Given the description of an element on the screen output the (x, y) to click on. 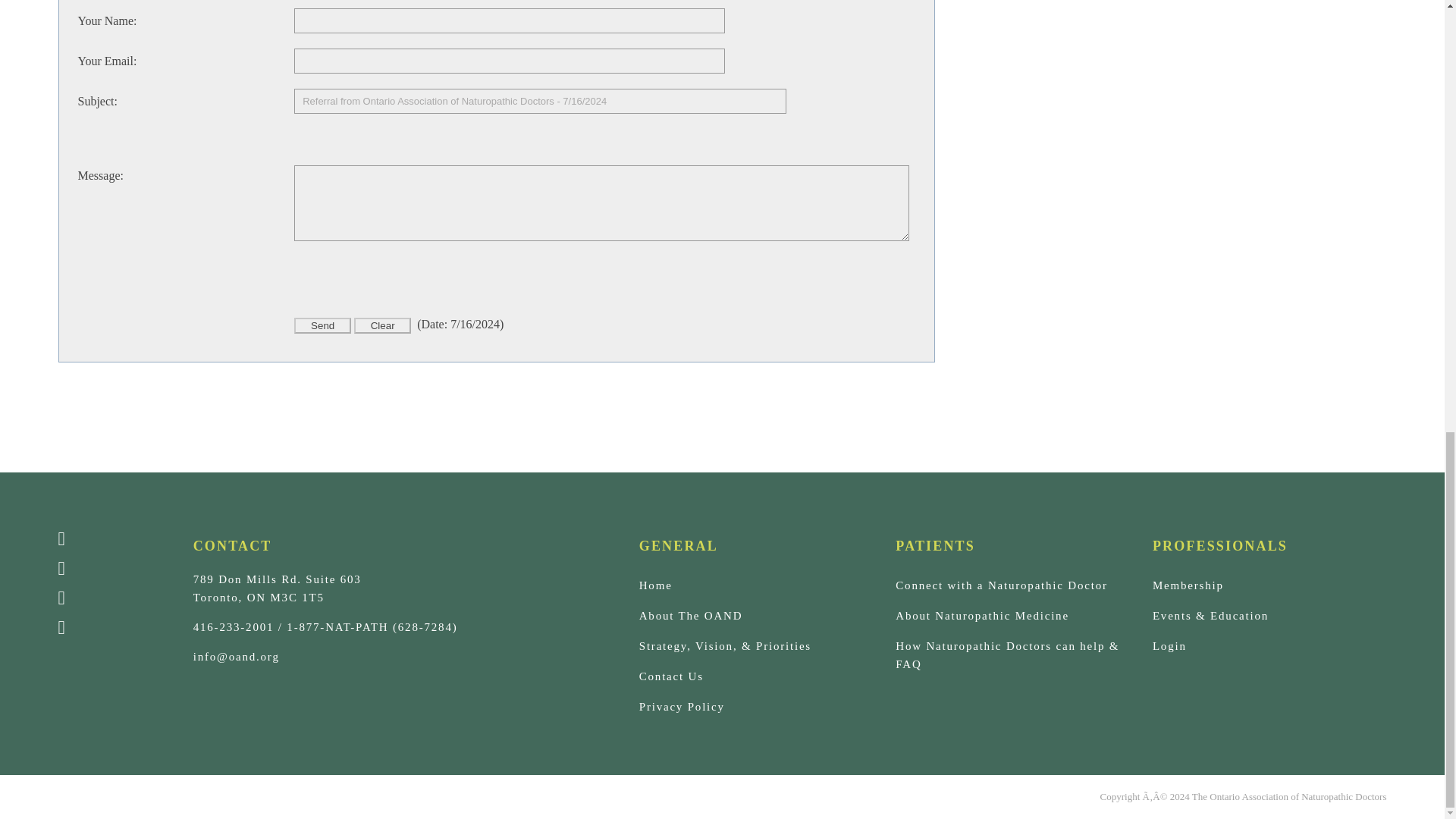
Send (322, 325)
Clear (381, 325)
